Given the description of an element on the screen output the (x, y) to click on. 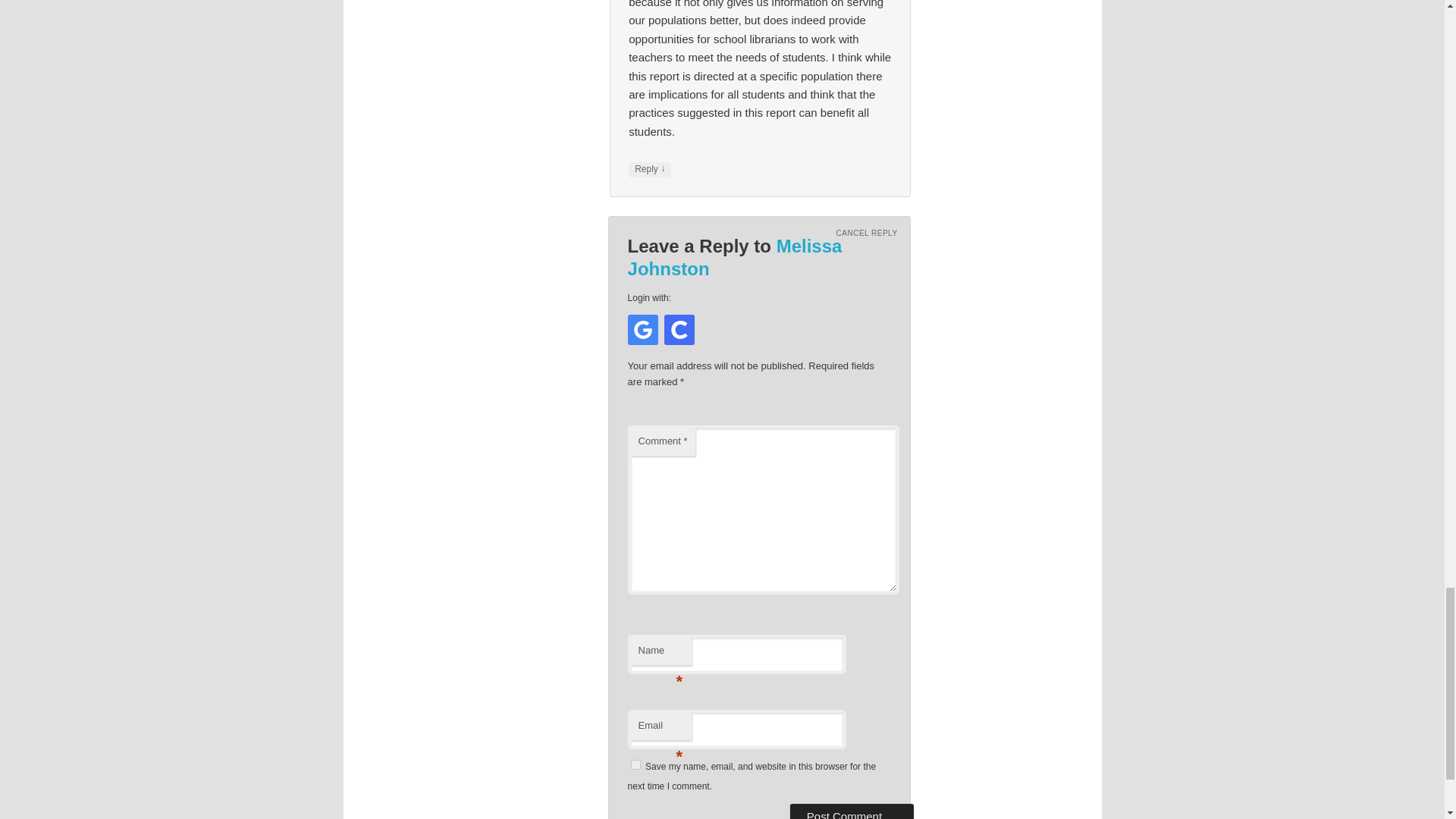
Continue with Clever (678, 329)
Melissa Johnston (735, 257)
Post Comment (852, 811)
yes (635, 764)
CANCEL REPLY (866, 233)
Post Comment (852, 811)
Continue with Google (642, 329)
